Given the description of an element on the screen output the (x, y) to click on. 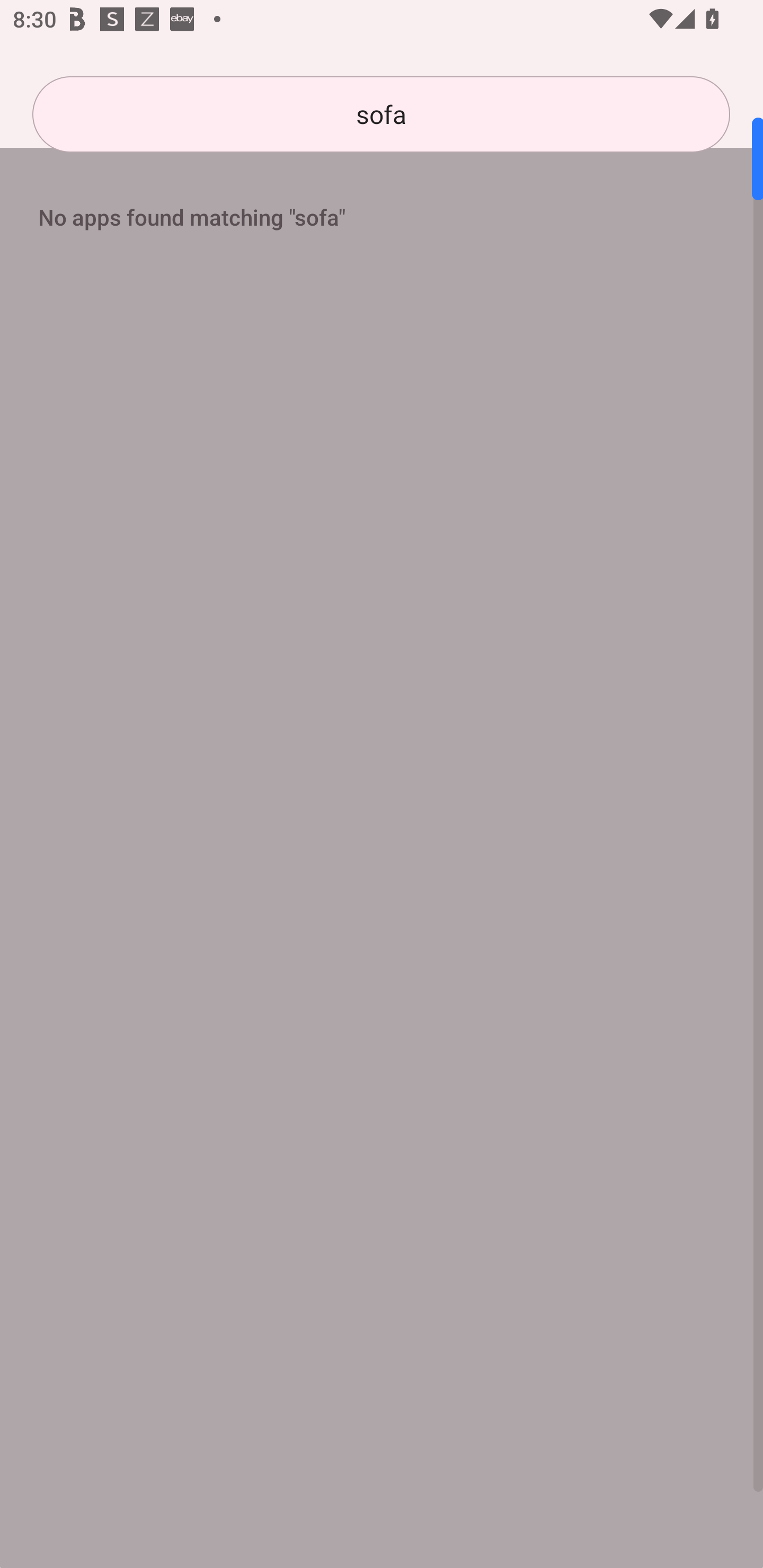
sofa (381, 114)
